Given the description of an element on the screen output the (x, y) to click on. 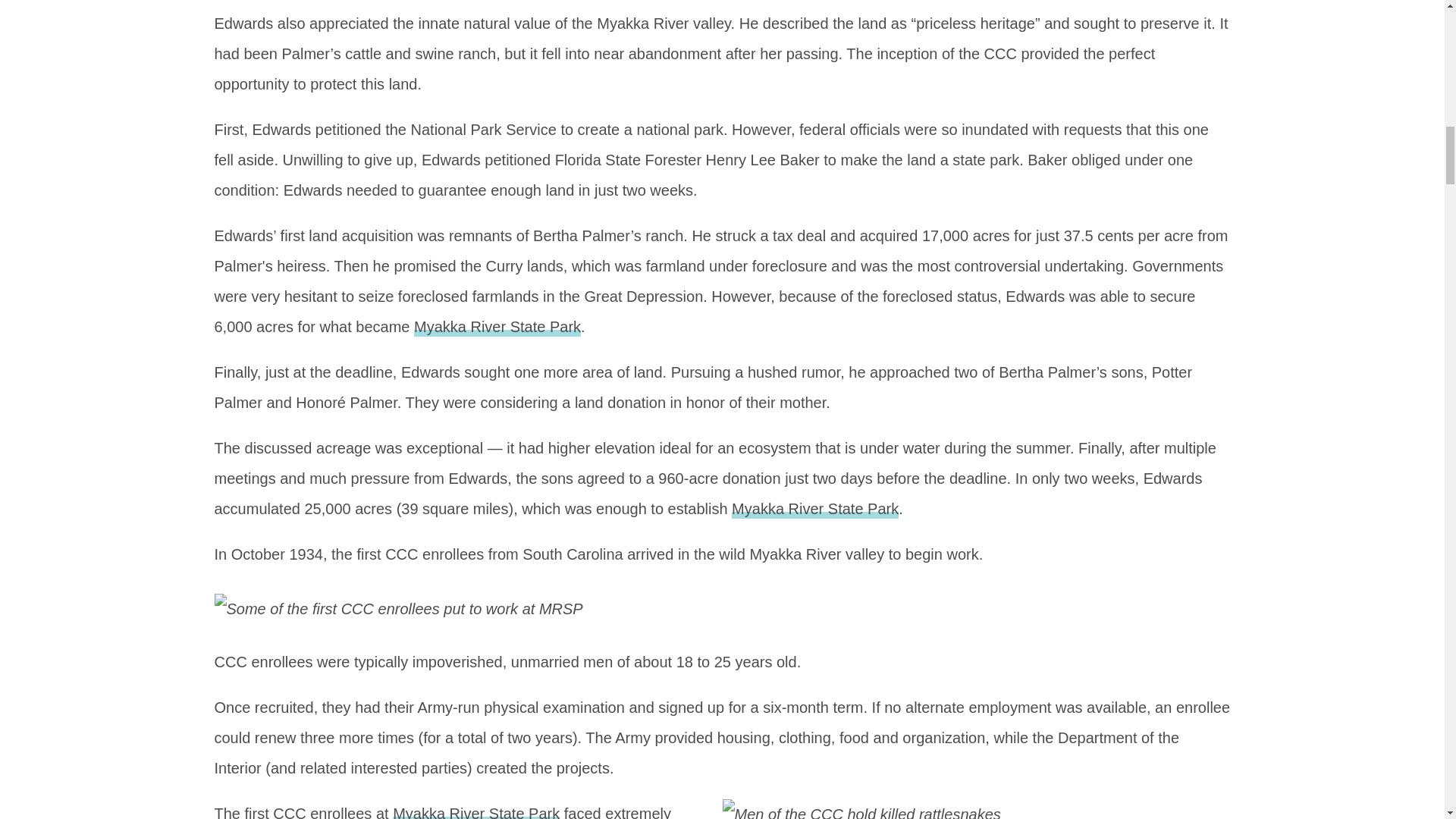
Myakka River State Park (496, 327)
Myakka River State Park (815, 509)
Myakka River State Park (476, 812)
